Given the description of an element on the screen output the (x, y) to click on. 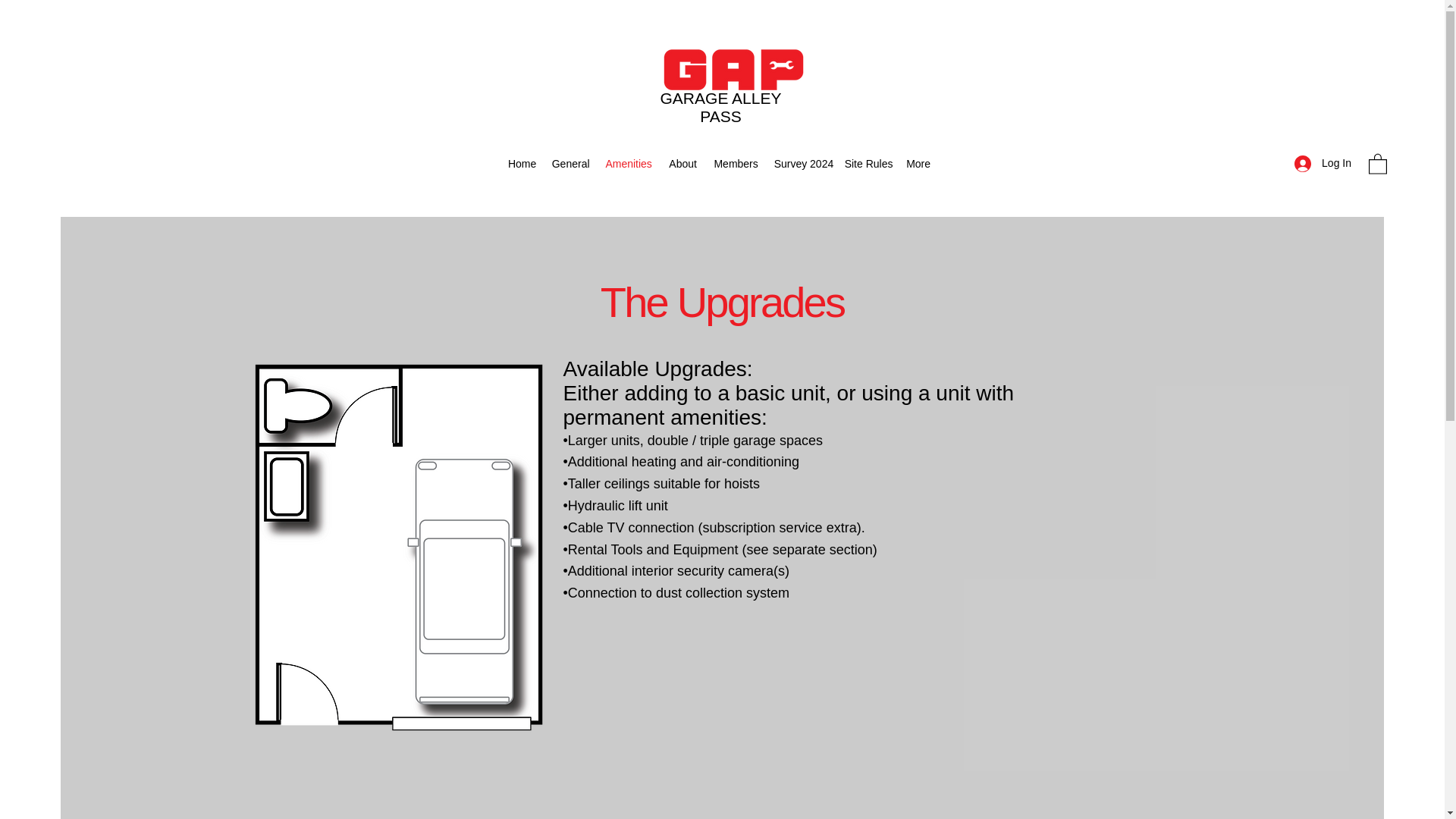
Survey 2024 (802, 163)
Home (522, 163)
Members (736, 163)
Amenities (628, 163)
Log In (1322, 163)
About (683, 163)
General (570, 163)
Site Rules (867, 163)
